Given the description of an element on the screen output the (x, y) to click on. 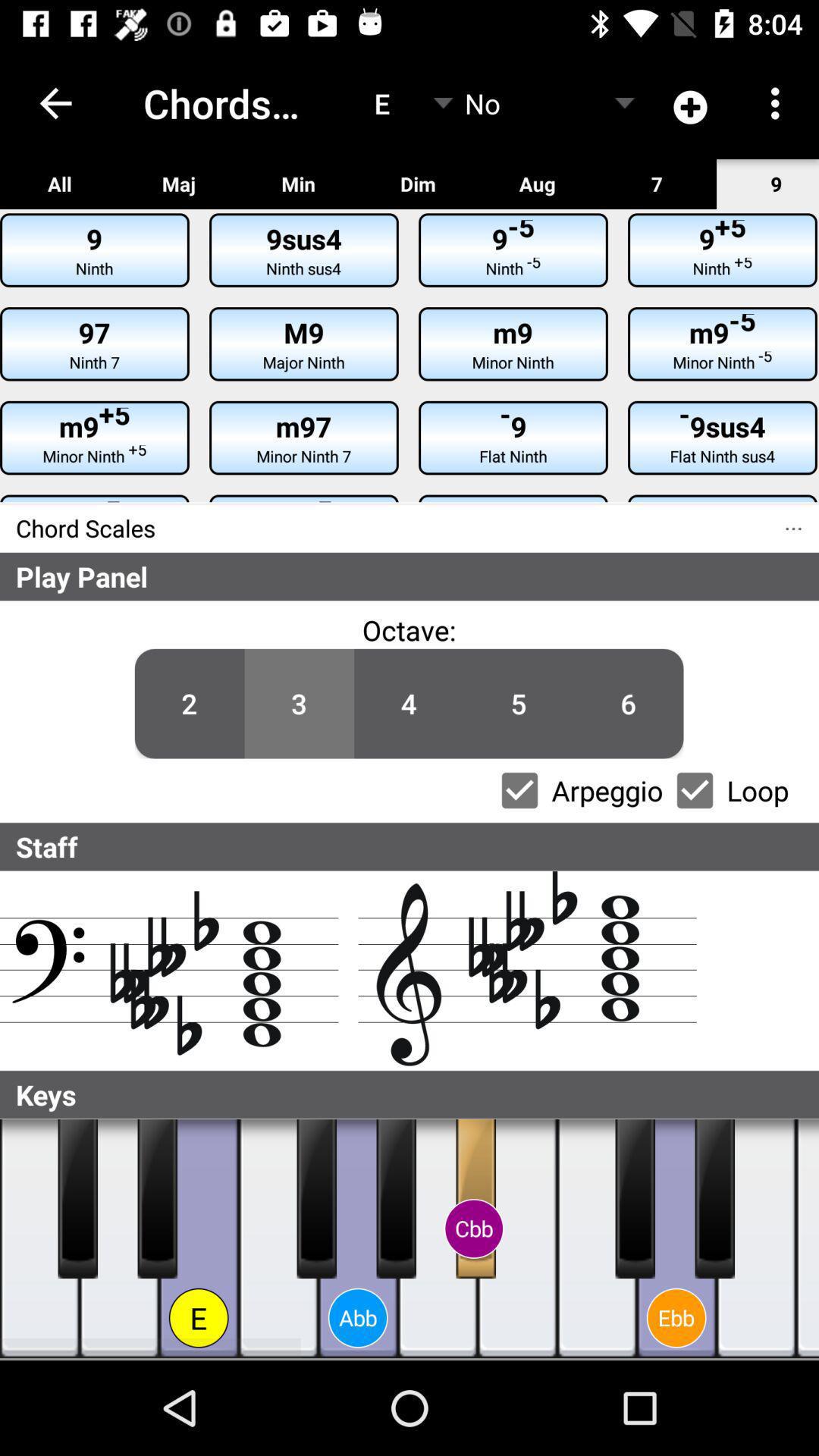
options (519, 790)
